Given the description of an element on the screen output the (x, y) to click on. 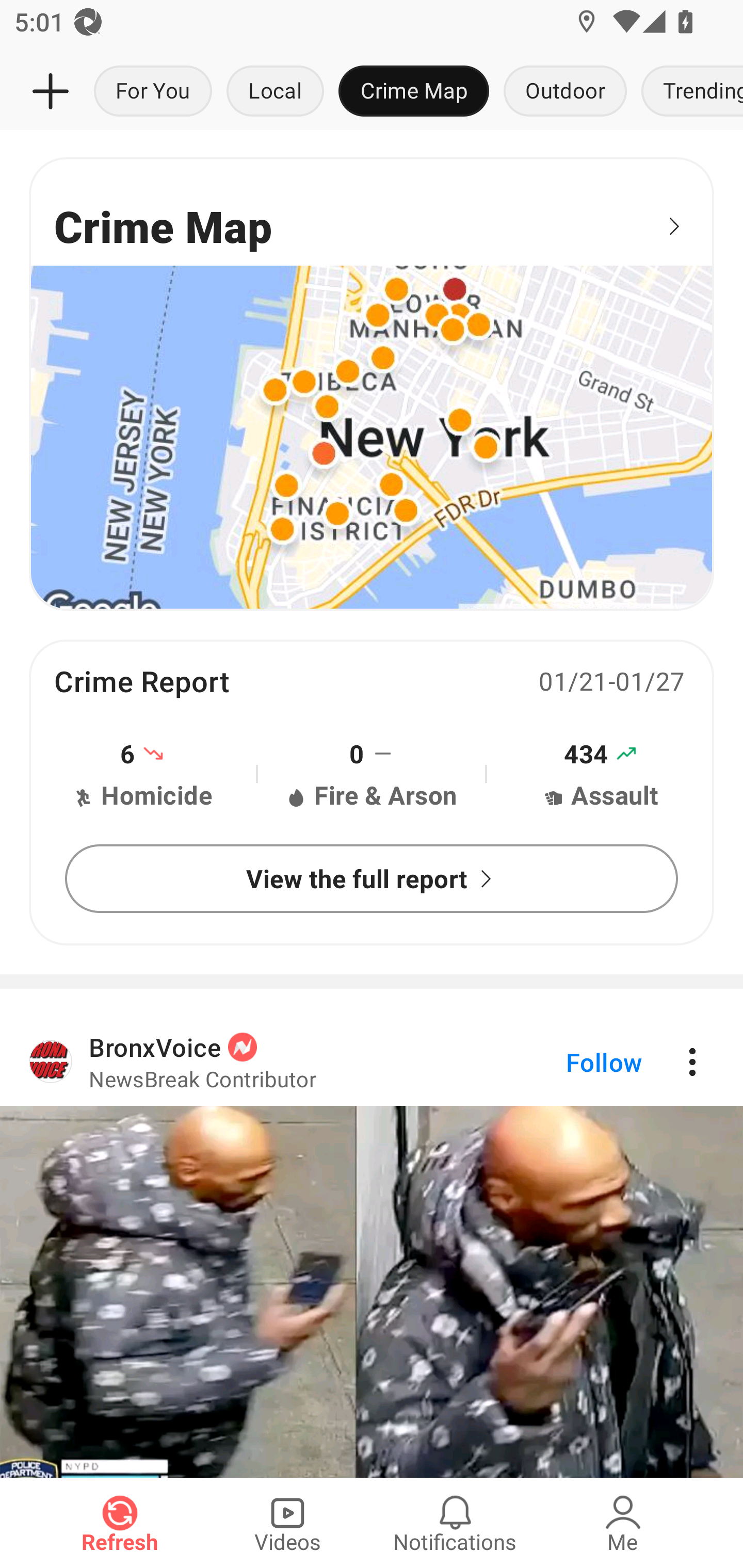
For You (152, 91)
Local (275, 91)
Crime Map (413, 91)
Outdoor (564, 91)
Trending (688, 91)
Crime Map (371, 382)
View the full report (371, 877)
BronxVoice NewsBreak Contributor Follow (371, 1247)
BronxVoice NewsBreak Contributor Follow (371, 1061)
Follow (569, 1061)
Videos (287, 1522)
Notifications (455, 1522)
Me (622, 1522)
